Given the description of an element on the screen output the (x, y) to click on. 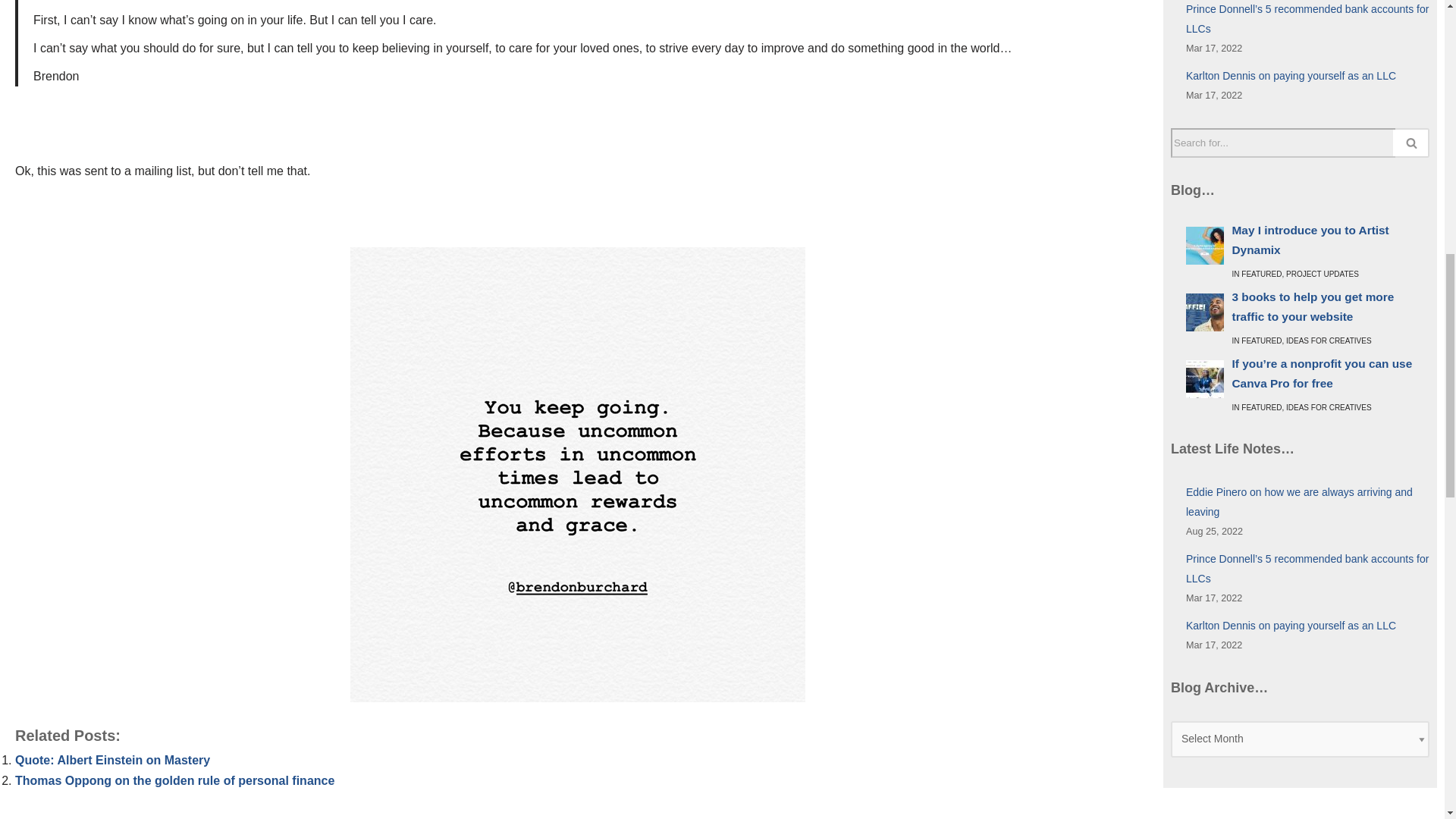
Thomas Oppong on the golden rule of personal finance (174, 780)
Quote: Albert Einstein on Mastery (111, 759)
